Given the description of an element on the screen output the (x, y) to click on. 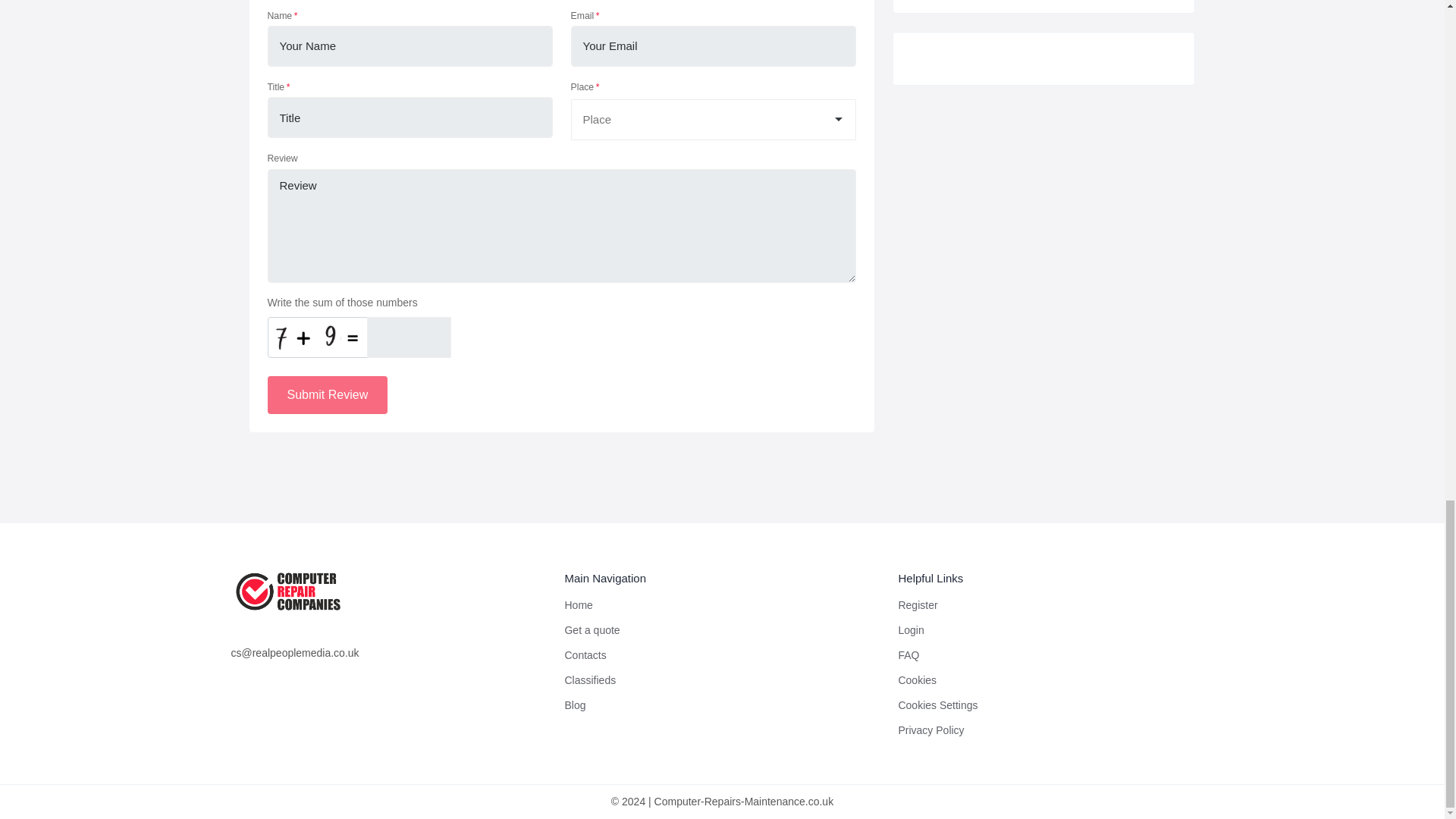
Submit Review (326, 394)
Privacy Policy (930, 729)
Classifieds (589, 680)
Get a quote (592, 630)
FAQ (908, 654)
Login (910, 630)
Contacts (584, 654)
Cookies Settings (937, 705)
Cookies (917, 680)
Blog (574, 705)
Home (578, 604)
Register (917, 604)
